Given the description of an element on the screen output the (x, y) to click on. 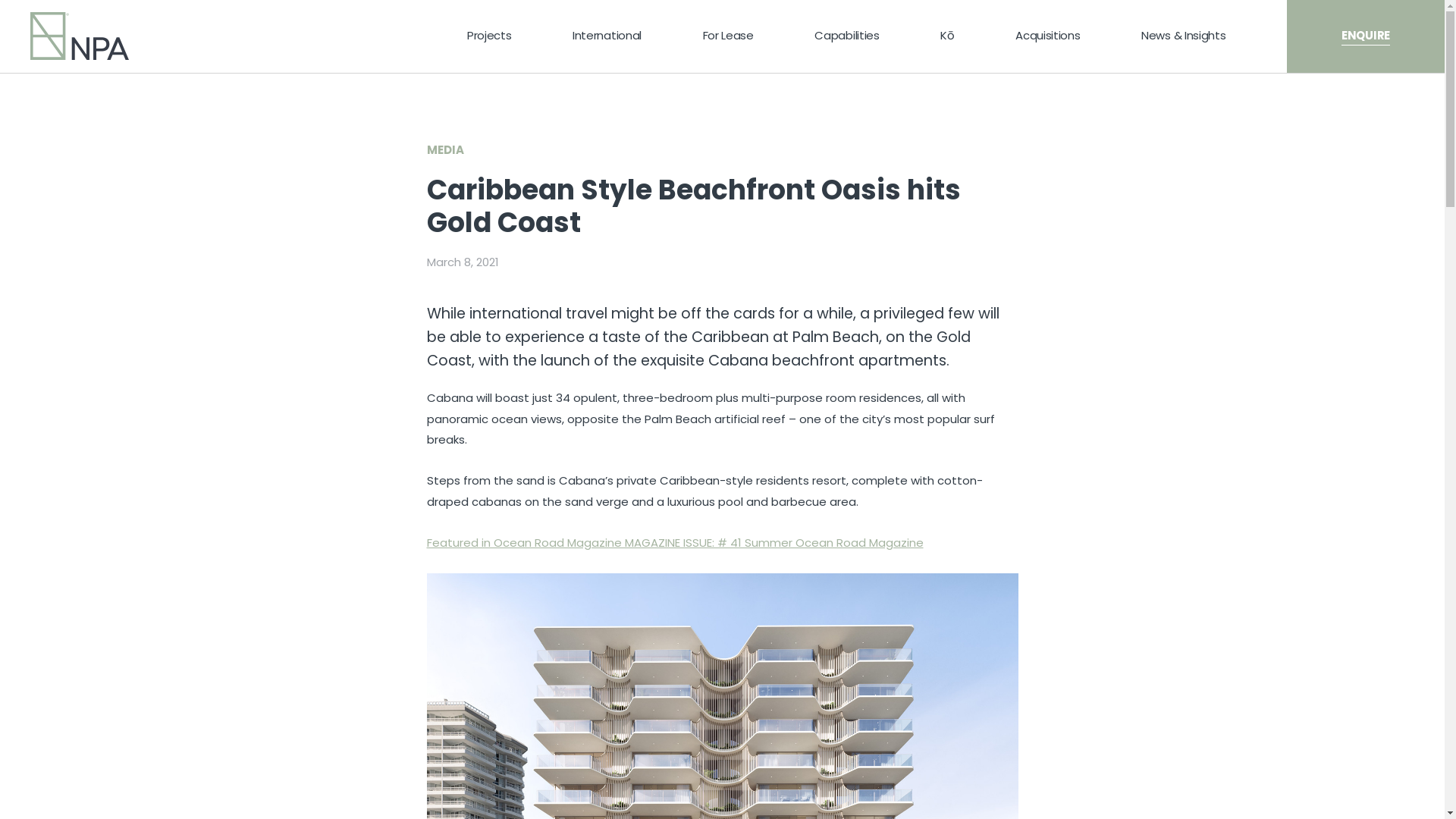
ENQUIRE Element type: text (1365, 36)
News & Insights Element type: text (1183, 36)
Acquisitions Element type: text (1047, 36)
Capabilities Element type: text (846, 36)
MEDIA Element type: text (444, 148)
Projects Element type: text (489, 36)
International Element type: text (606, 36)
For Lease Element type: text (727, 36)
